Given the description of an element on the screen output the (x, y) to click on. 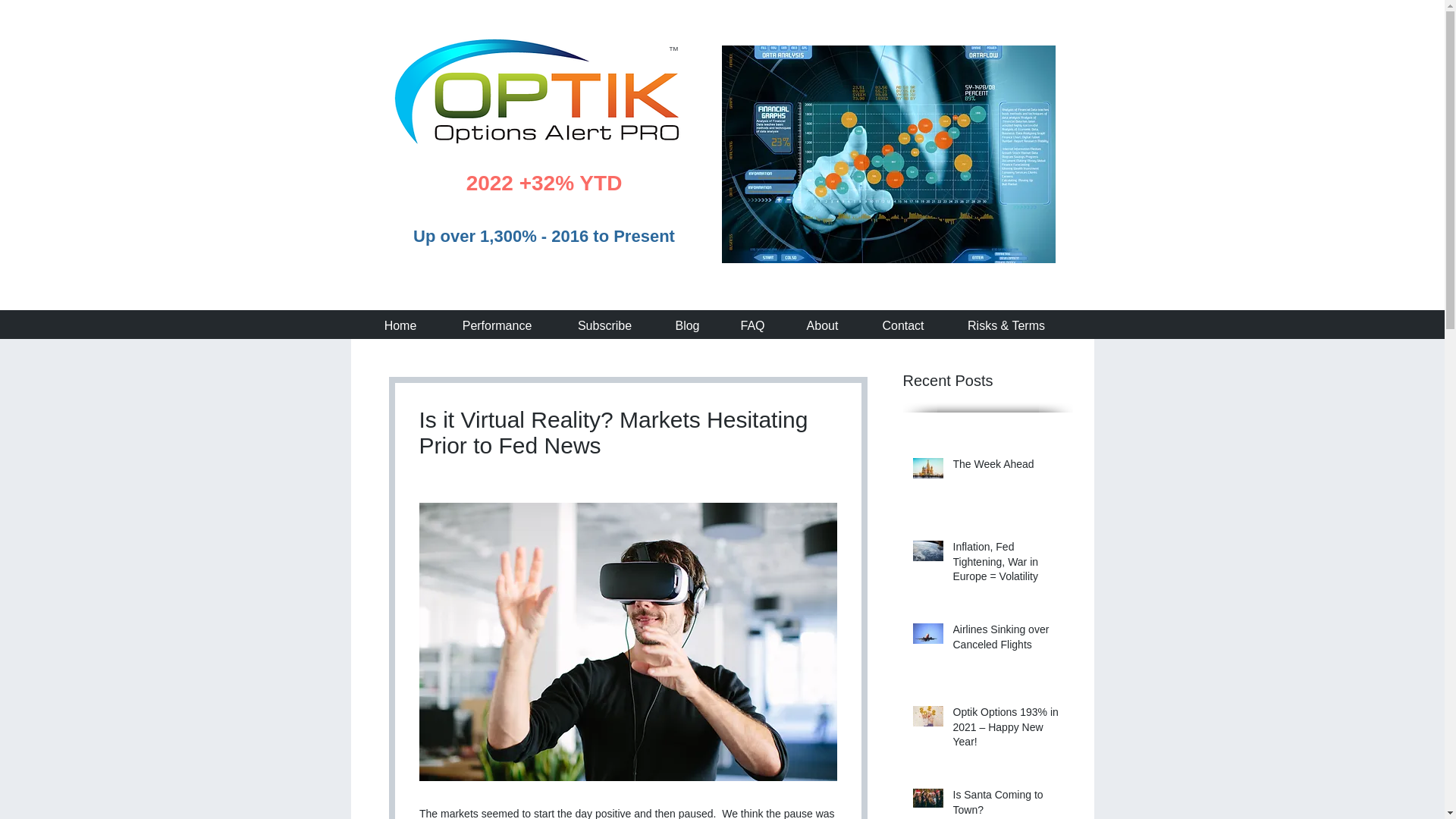
Contact (902, 325)
Is Santa Coming to Town? (1008, 803)
Airlines Sinking over Canceled Flights (1008, 640)
Home (400, 325)
About (822, 325)
The Week Ahead (1008, 467)
Subscribe (603, 325)
FAQ (752, 325)
Performance (496, 325)
Blog (686, 325)
